Given the description of an element on the screen output the (x, y) to click on. 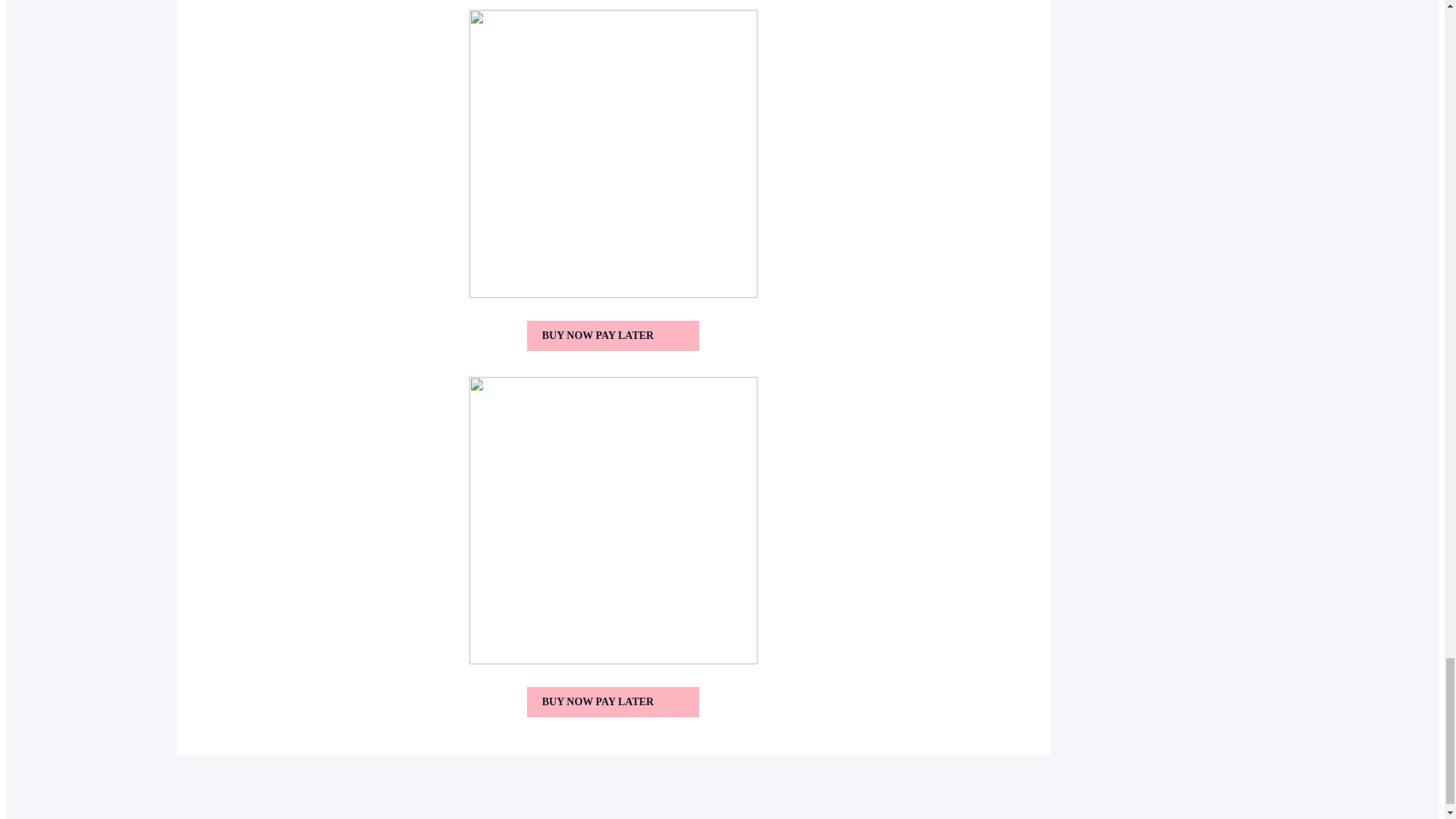
BUY NOW PAY LATER (612, 701)
BUY NOW PAY LATER (612, 335)
Buy Now Pay Later (612, 701)
Buy Now Pay Later (612, 335)
